Given the description of an element on the screen output the (x, y) to click on. 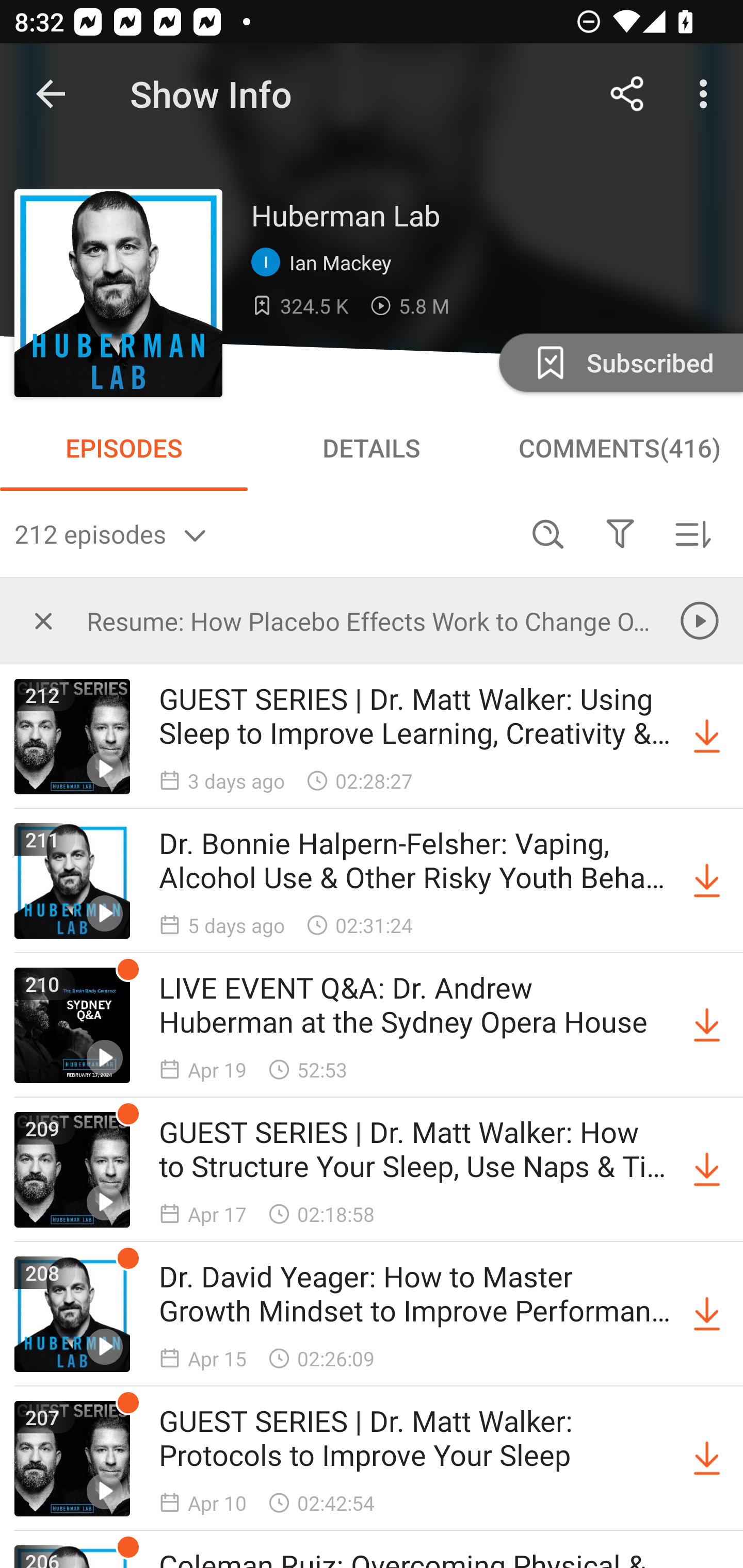
Navigate up (50, 93)
Share (626, 93)
More options (706, 93)
Ian Mackey (326, 262)
Unsubscribe Subscribed (619, 361)
EPISODES (123, 447)
DETAILS (371, 447)
COMMENTS(416) (619, 447)
212 episodes  (262, 533)
 Search (547, 533)
 (619, 533)
 Sorted by newest first (692, 533)
 (43, 620)
Download (706, 736)
Download (706, 881)
Download (706, 1025)
Download (706, 1169)
Download (706, 1313)
Download (706, 1458)
